Given the description of an element on the screen output the (x, y) to click on. 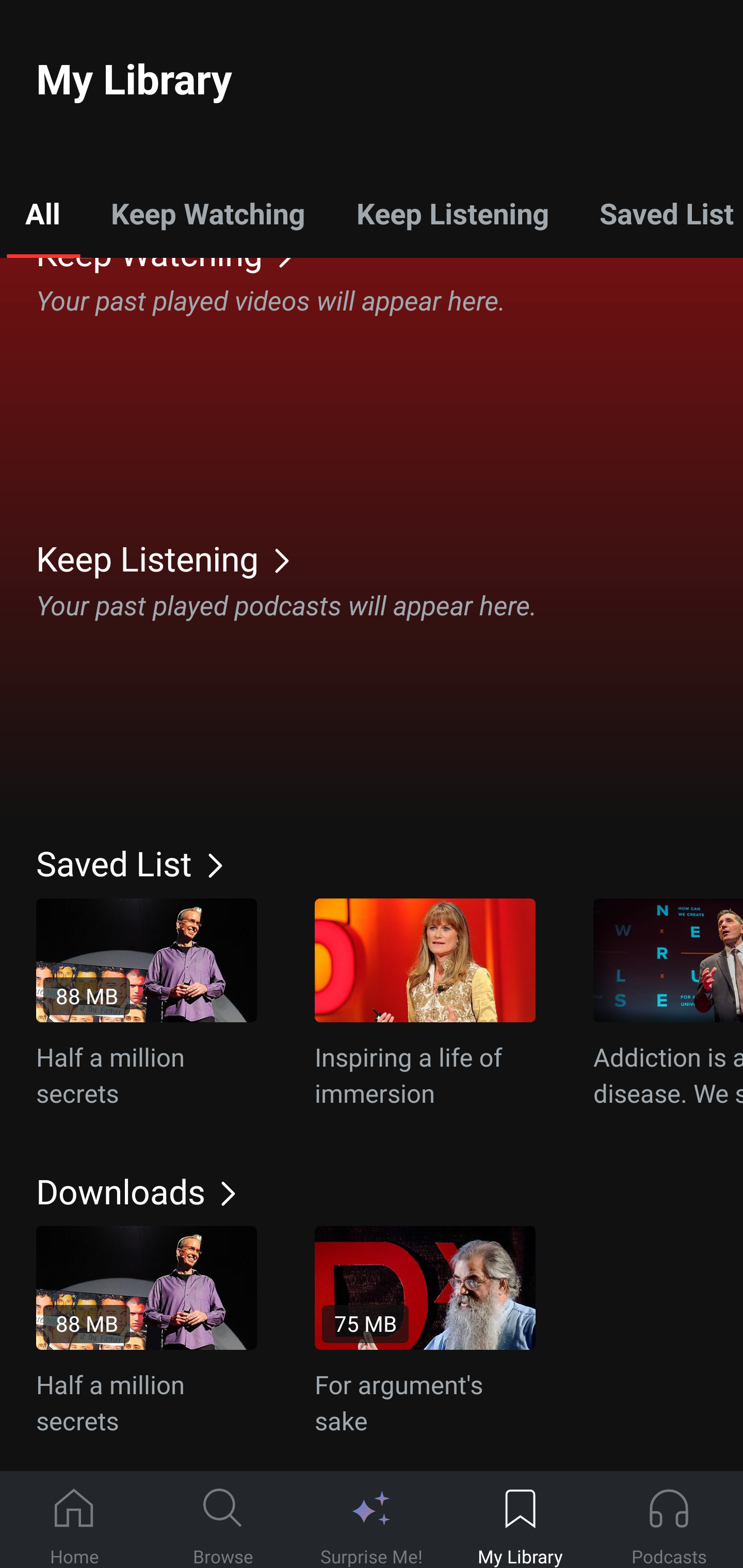
All (42, 212)
Keep Watching (207, 212)
Keep Listening (452, 212)
Saved List (658, 212)
Keep Listening (389, 558)
Saved List (389, 862)
88 MB Half a million secrets (146, 1004)
Inspiring a life of immersion (425, 1004)
Downloads (389, 1190)
88 MB Half a million secrets (146, 1331)
75 MB For argument's sake (425, 1331)
Home (74, 1520)
Browse (222, 1520)
Surprise Me! (371, 1520)
My Library (519, 1520)
Podcasts (668, 1520)
